Given the description of an element on the screen output the (x, y) to click on. 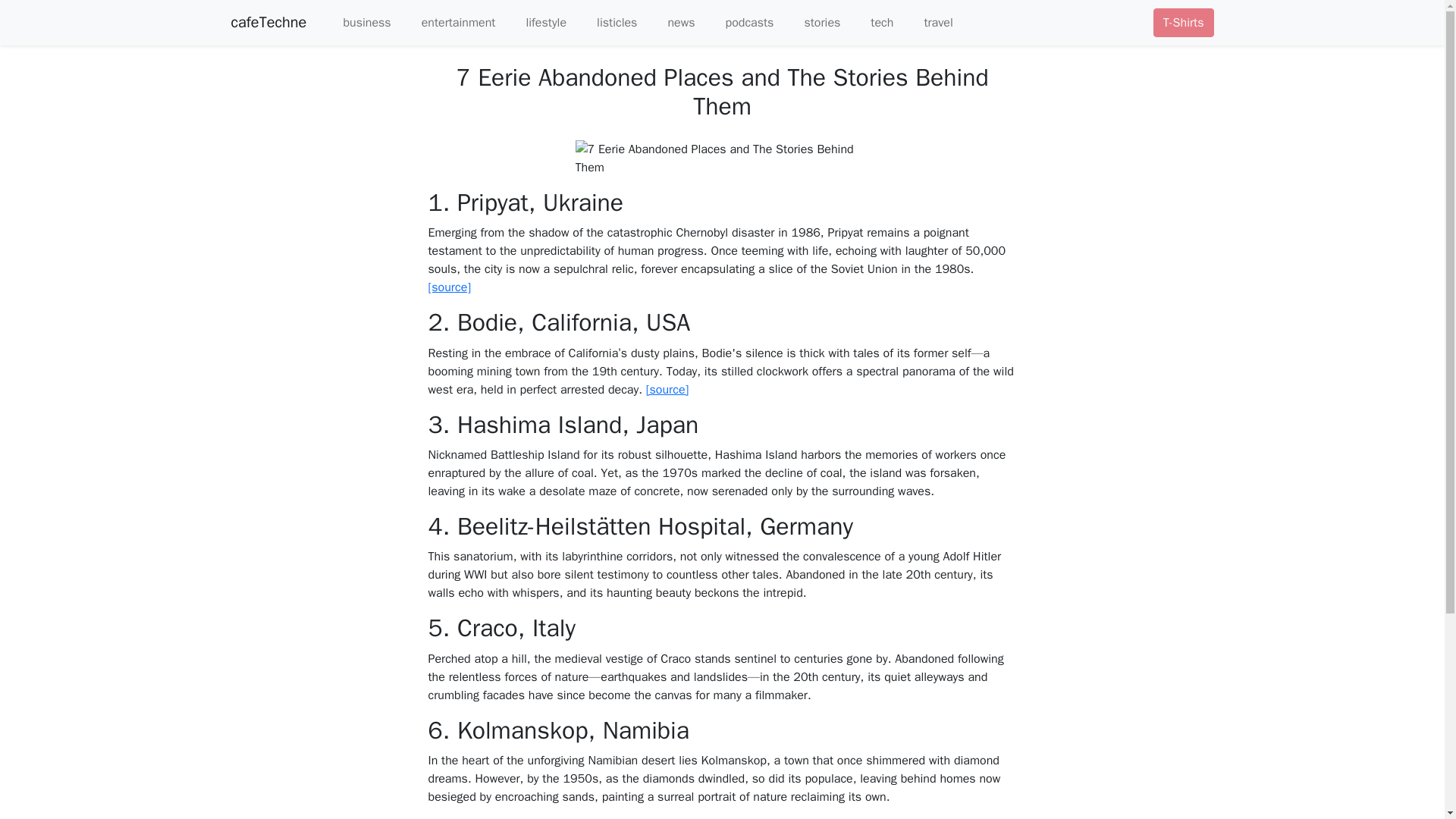
tech (872, 22)
news (671, 22)
business (357, 22)
entertainment (449, 22)
T-Shirts (1183, 22)
stories (811, 22)
travel (928, 22)
lifestyle (536, 22)
listicles (607, 22)
podcasts (740, 22)
cafeTechne (267, 22)
